Given the description of an element on the screen output the (x, y) to click on. 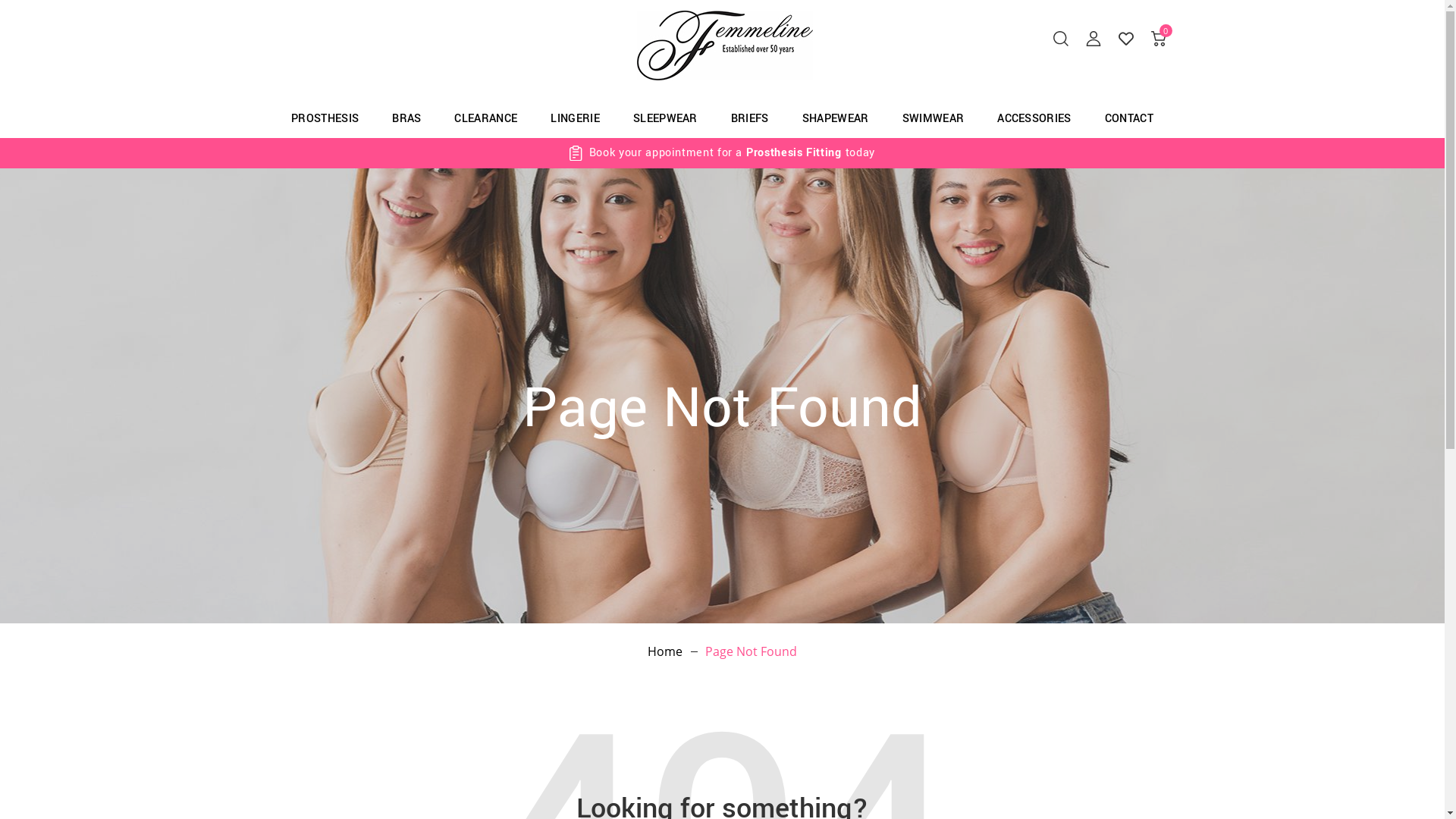
CLEARANCE Element type: text (485, 114)
LINGERIE Element type: text (574, 114)
Login / Register Element type: hover (1093, 37)
Femmeline Element type: hover (725, 45)
0 Element type: text (1158, 37)
BRAS Element type: text (406, 114)
PROSTHESIS Element type: text (324, 114)
Wishlist Element type: hover (1124, 37)
CONTACT Element type: text (1128, 114)
BRIEFS Element type: text (749, 114)
SLEEPWEAR Element type: text (665, 114)
Home Element type: text (664, 651)
ACCESSORIES Element type: text (1034, 114)
SHAPEWEAR Element type: text (835, 114)
SWIMWEAR Element type: text (933, 114)
Prosthesis Fitting Element type: text (793, 152)
Search Element type: hover (1059, 37)
Femmeline Element type: hover (725, 45)
Book your appointment for a Element type: text (665, 152)
